Given the description of an element on the screen output the (x, y) to click on. 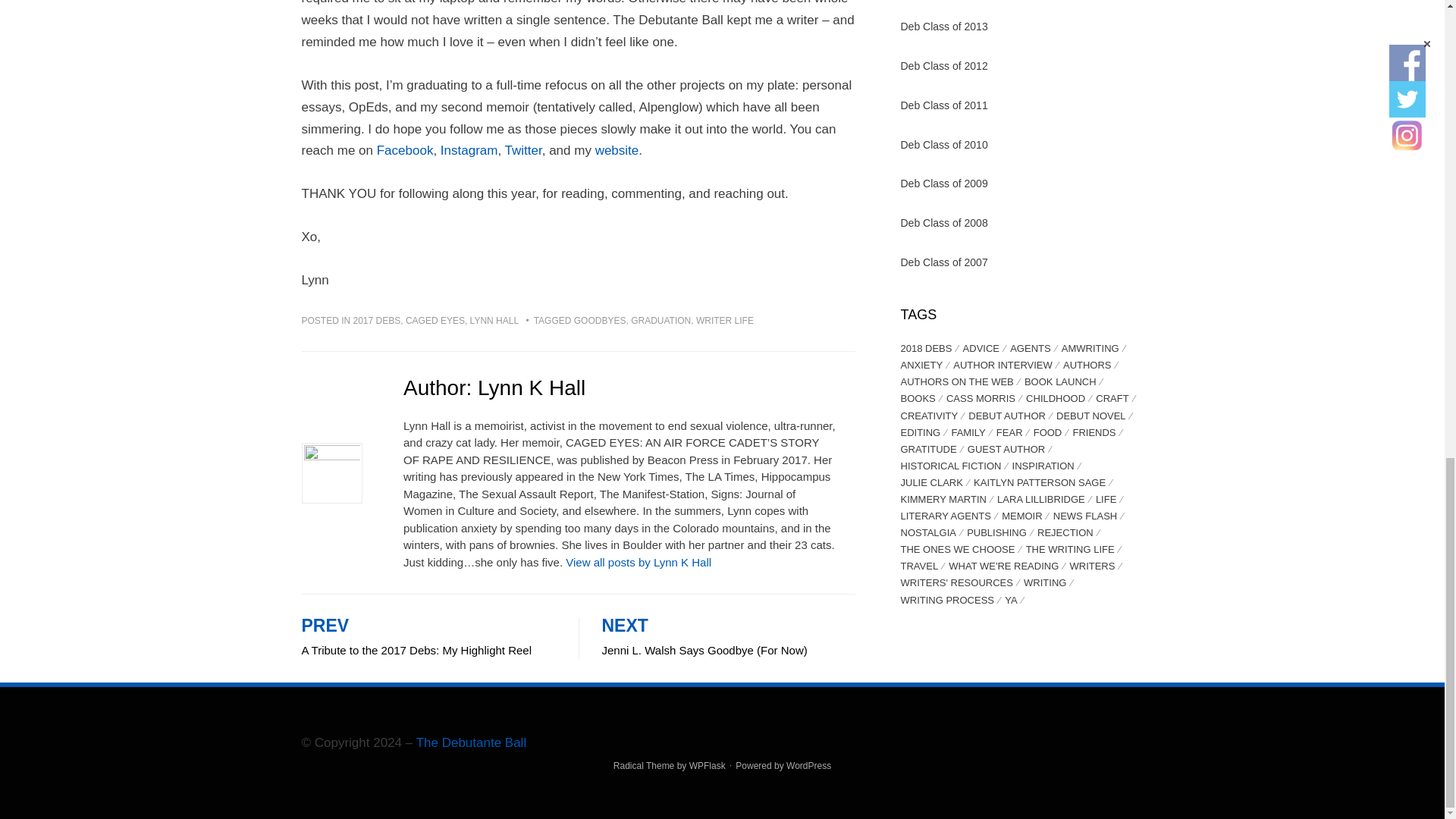
WRITER LIFE (724, 320)
2017 DEBS (377, 320)
GOODBYES (428, 638)
WPFlask (599, 320)
Deb Class of 2013 (706, 765)
Instagram (944, 26)
View all posts by Lynn K Hall (469, 150)
GRADUATION (638, 562)
Twitter (660, 320)
